Given the description of an element on the screen output the (x, y) to click on. 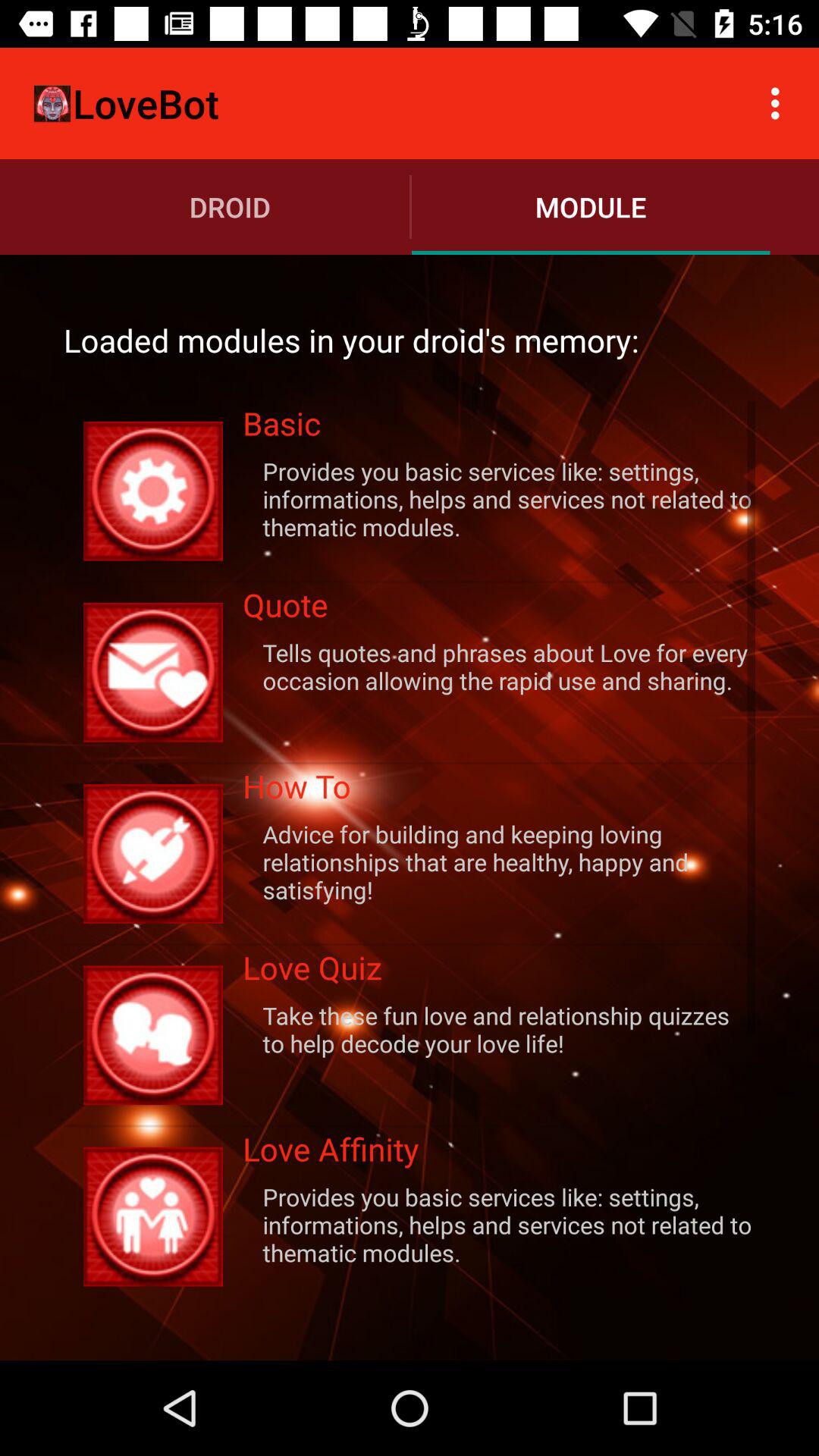
tap the icon above provides you basic item (498, 1153)
